Given the description of an element on the screen output the (x, y) to click on. 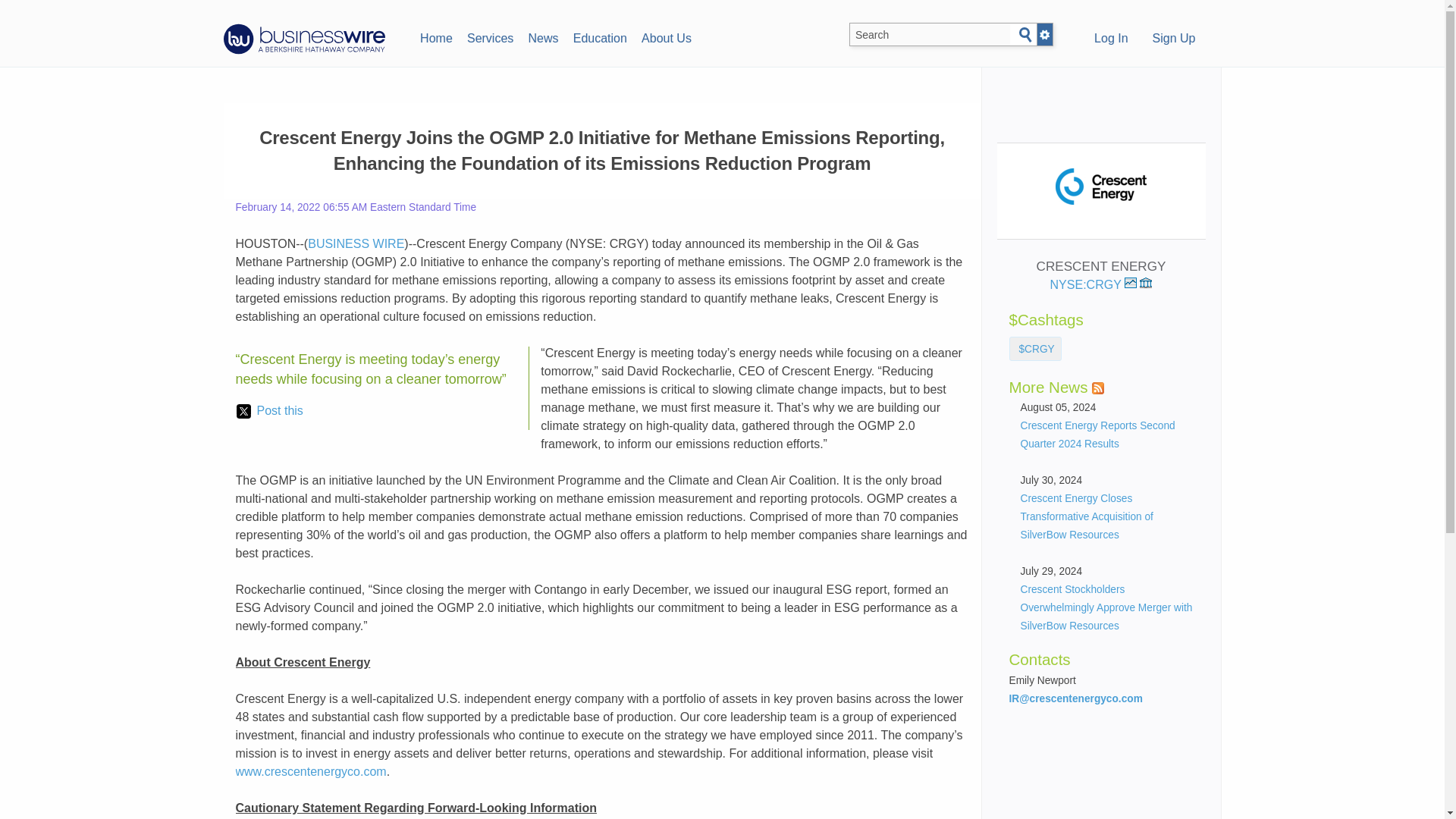
News (543, 36)
Education (599, 36)
RSS feed for Crescent Energy (1097, 387)
View stock quote and chart (1130, 282)
www.crescentenergyco.com (309, 771)
View SEC Filings (1145, 282)
Home (436, 36)
Search (1025, 34)
